Given the description of an element on the screen output the (x, y) to click on. 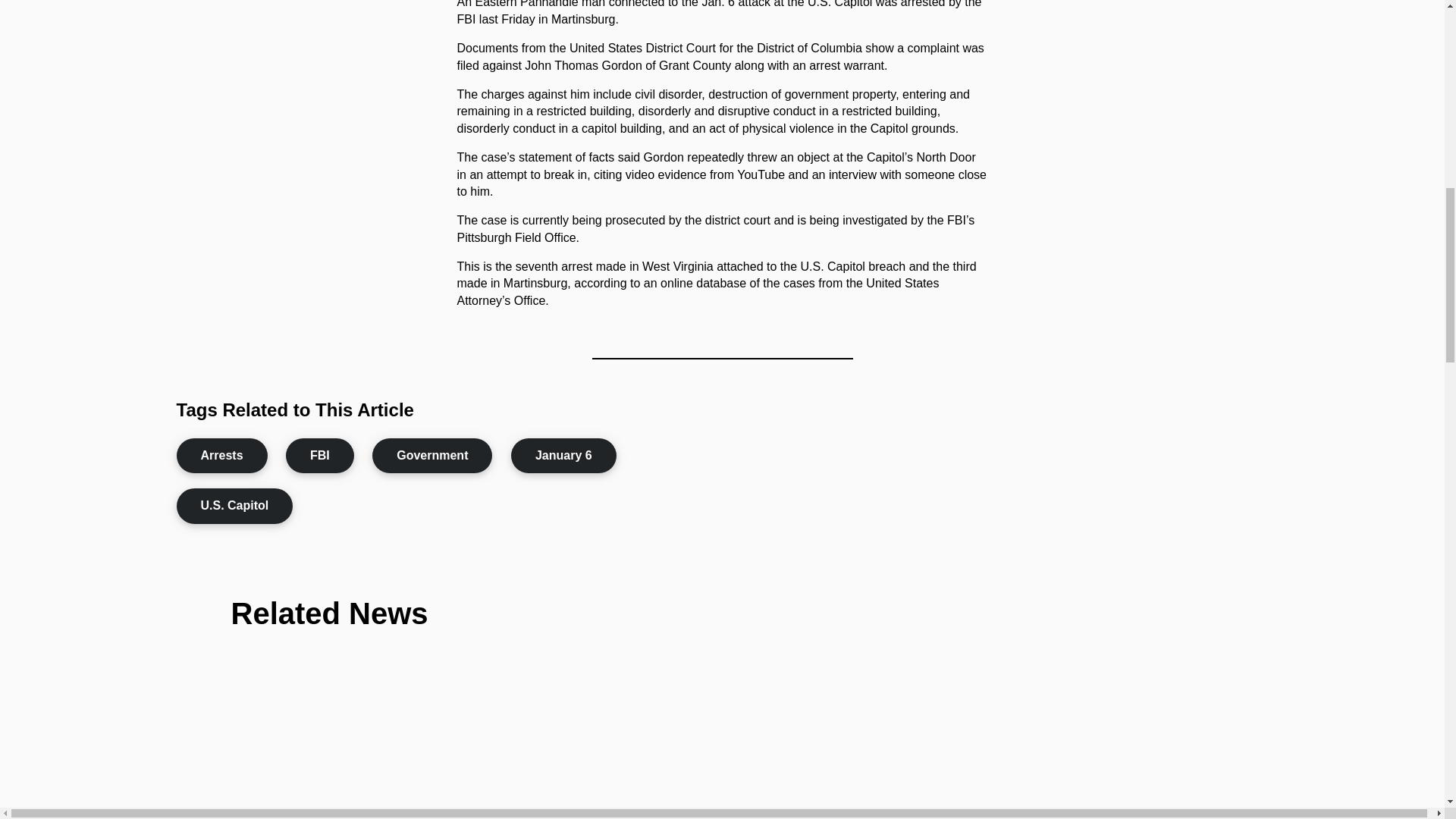
Government (432, 455)
Arrests (221, 455)
U.S. Capitol (234, 505)
January 6 (563, 455)
FBI (319, 455)
